Given the description of an element on the screen output the (x, y) to click on. 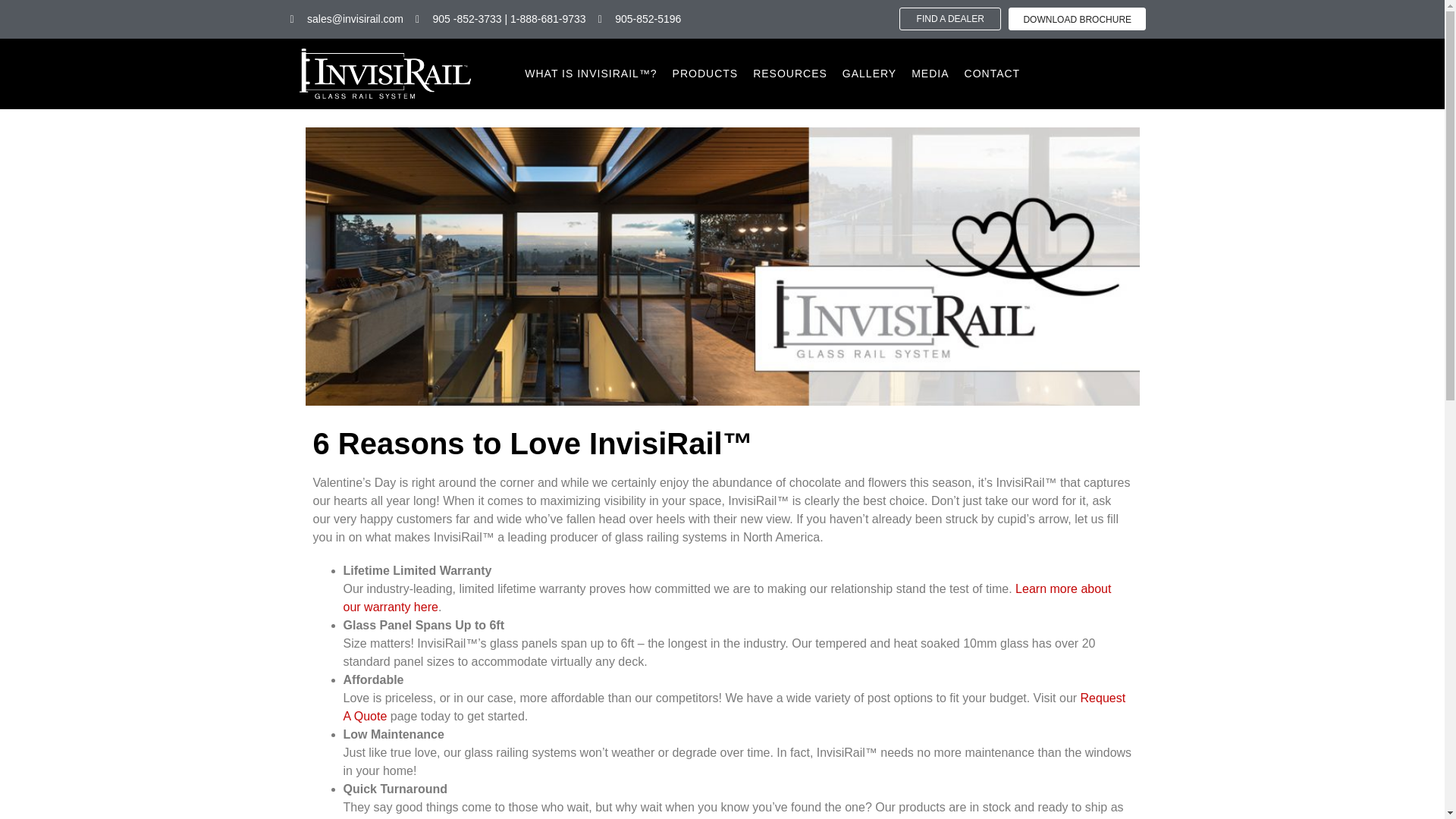
GALLERY (868, 74)
DOWNLOAD BROCHURE (1077, 18)
Request A Quote (733, 706)
905-852-5196 (639, 19)
MEDIA (929, 74)
Learn more about our warranty here (726, 597)
RESOURCES (790, 74)
CONTACT (992, 74)
FIND A DEALER (950, 18)
PRODUCTS (705, 74)
